Given the description of an element on the screen output the (x, y) to click on. 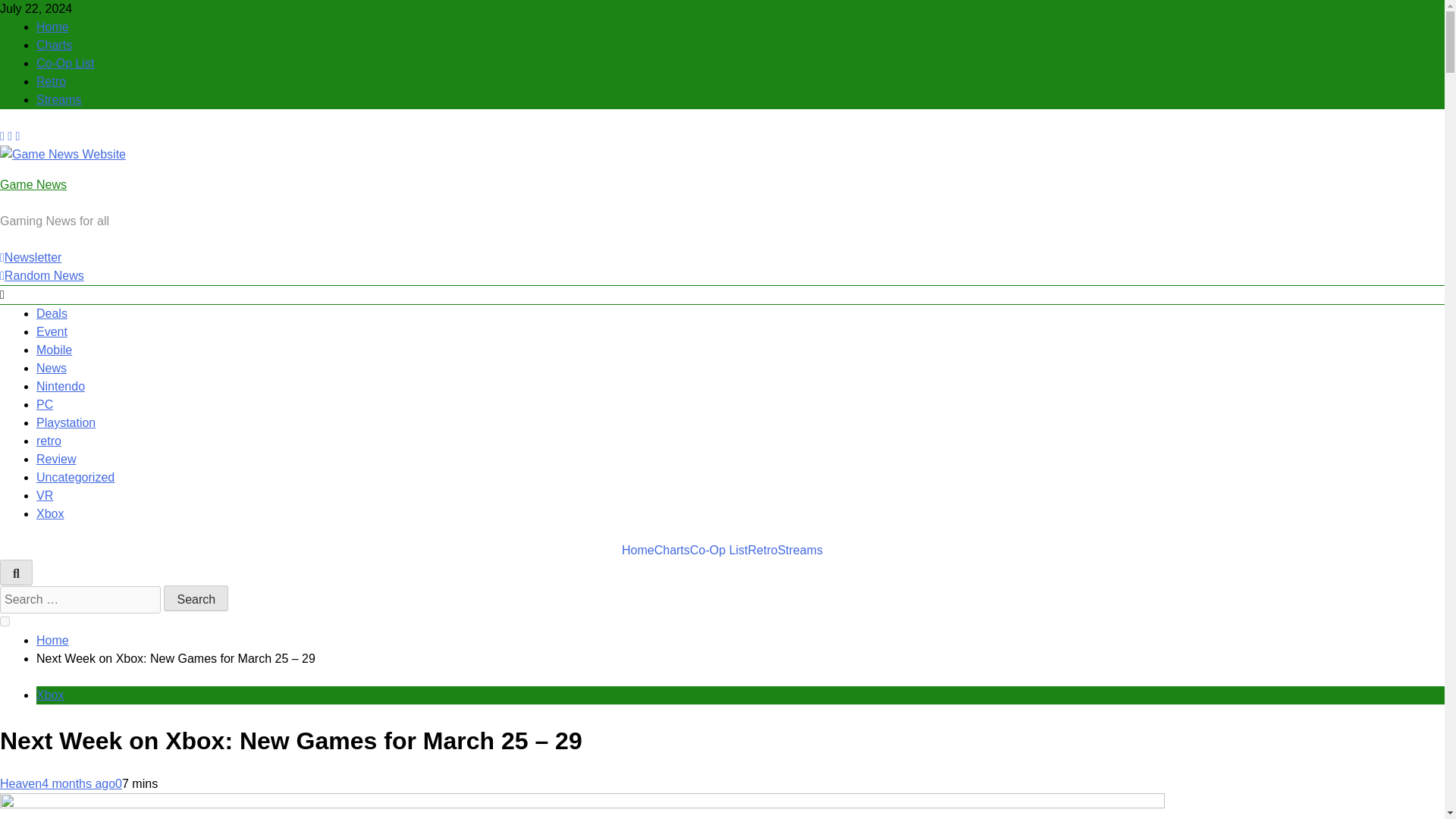
Event (51, 331)
Search (195, 597)
on (5, 621)
Co-Op List (719, 550)
Nintendo (60, 386)
Streams (58, 99)
Random News (42, 275)
VR (44, 495)
PC (44, 404)
Home (52, 26)
Mobile (53, 349)
Retro (762, 550)
Newsletter (30, 256)
Deals (51, 313)
Xbox (50, 513)
